Given the description of an element on the screen output the (x, y) to click on. 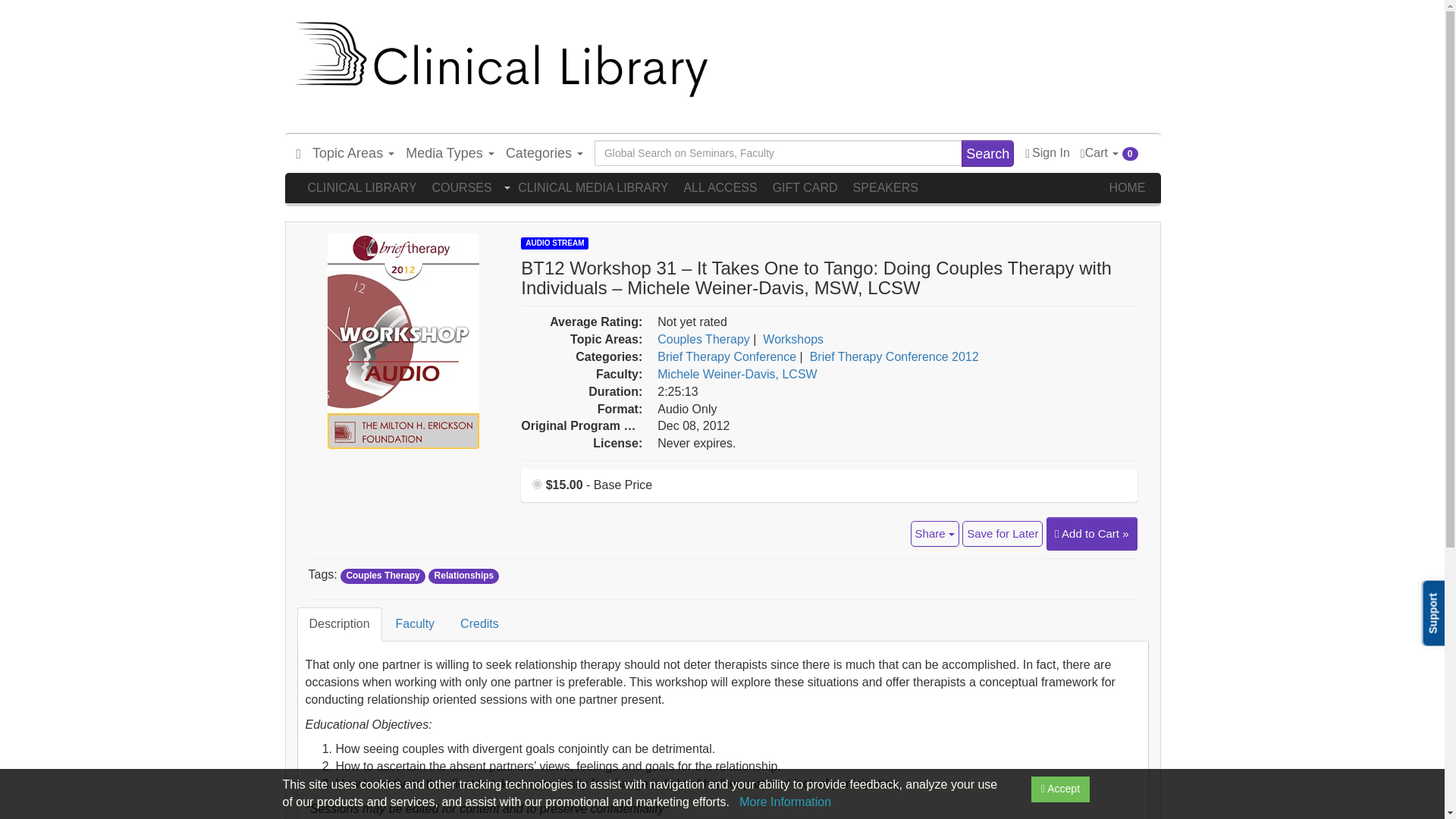
0,15.00 (536, 483)
Topic Areas (353, 152)
